Given the description of an element on the screen output the (x, y) to click on. 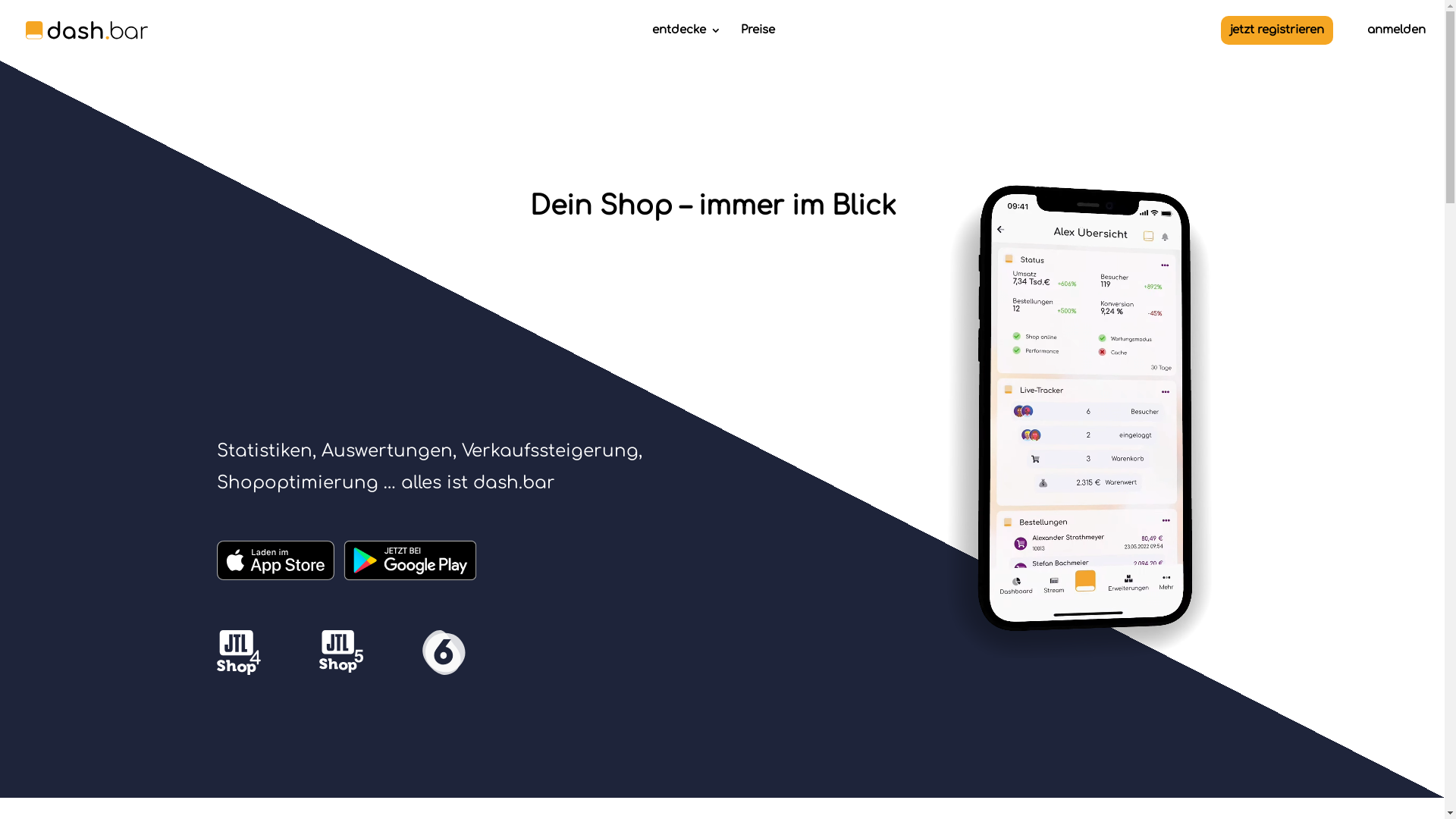
anmelden Element type: text (1396, 42)
jetzt registrieren Element type: text (1276, 29)
entdecke Element type: text (686, 42)
Preise Element type: text (757, 42)
